Given the description of an element on the screen output the (x, y) to click on. 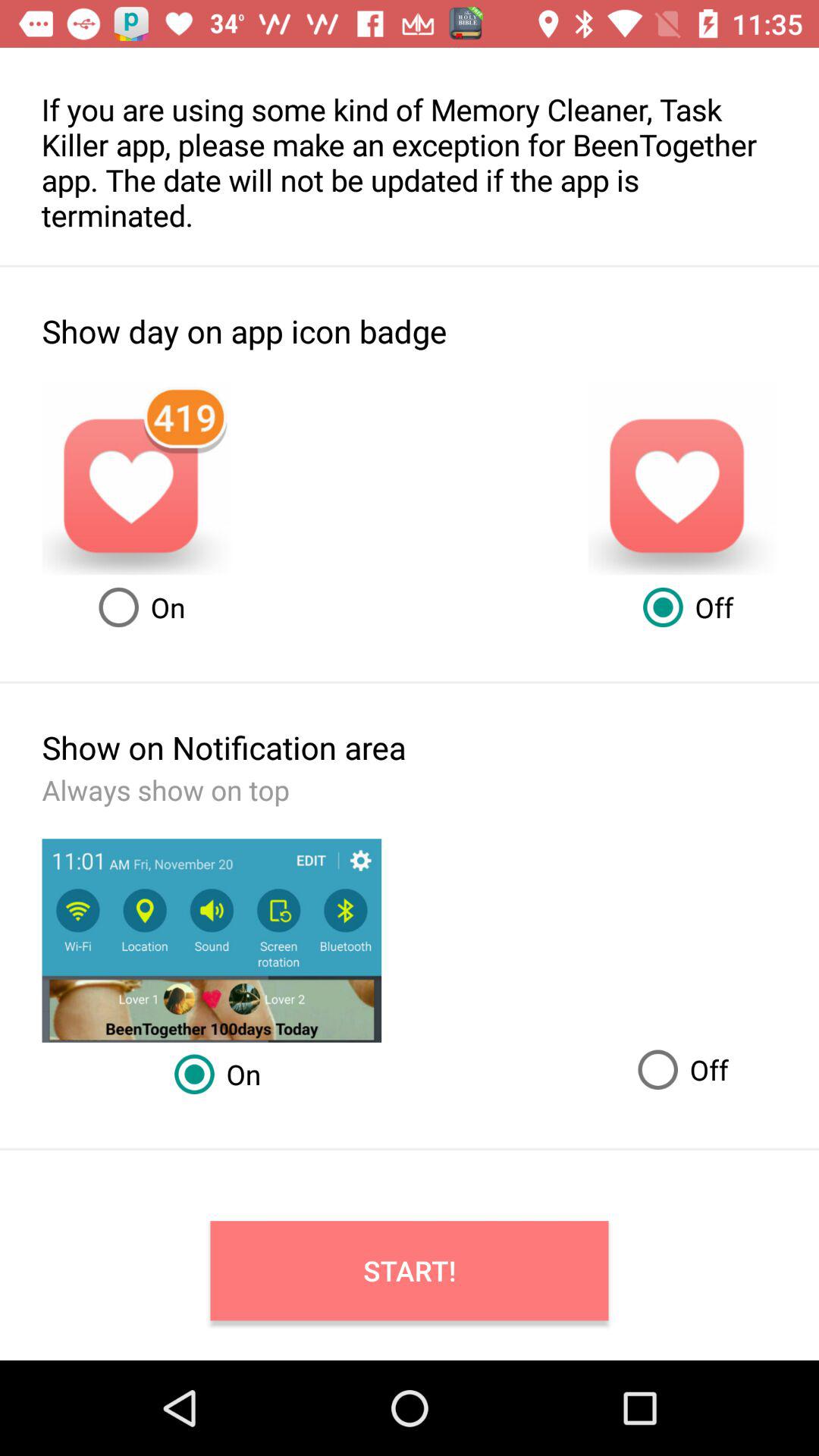
click on the heart symbol which is showing notifications (136, 478)
click on the on radio button which is below the show on notification area (211, 1074)
select the off radio button (677, 1070)
select the image above on radio button (211, 940)
click on the button on below the love symbol icon (135, 607)
